Given the description of an element on the screen output the (x, y) to click on. 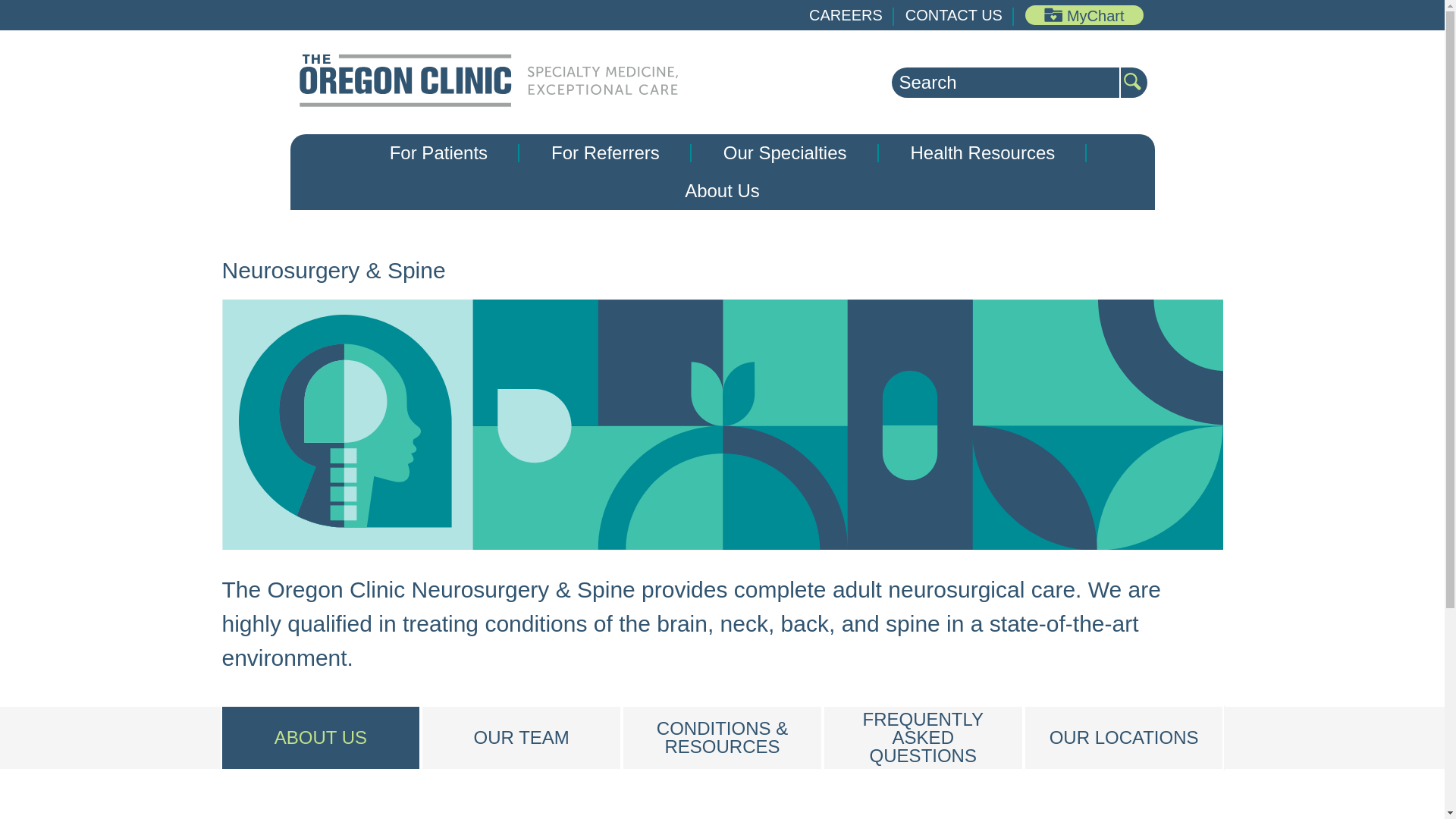
CAREERS (845, 15)
Search for: (1005, 81)
CONTACT US (954, 15)
MyChart (1083, 14)
